Given the description of an element on the screen output the (x, y) to click on. 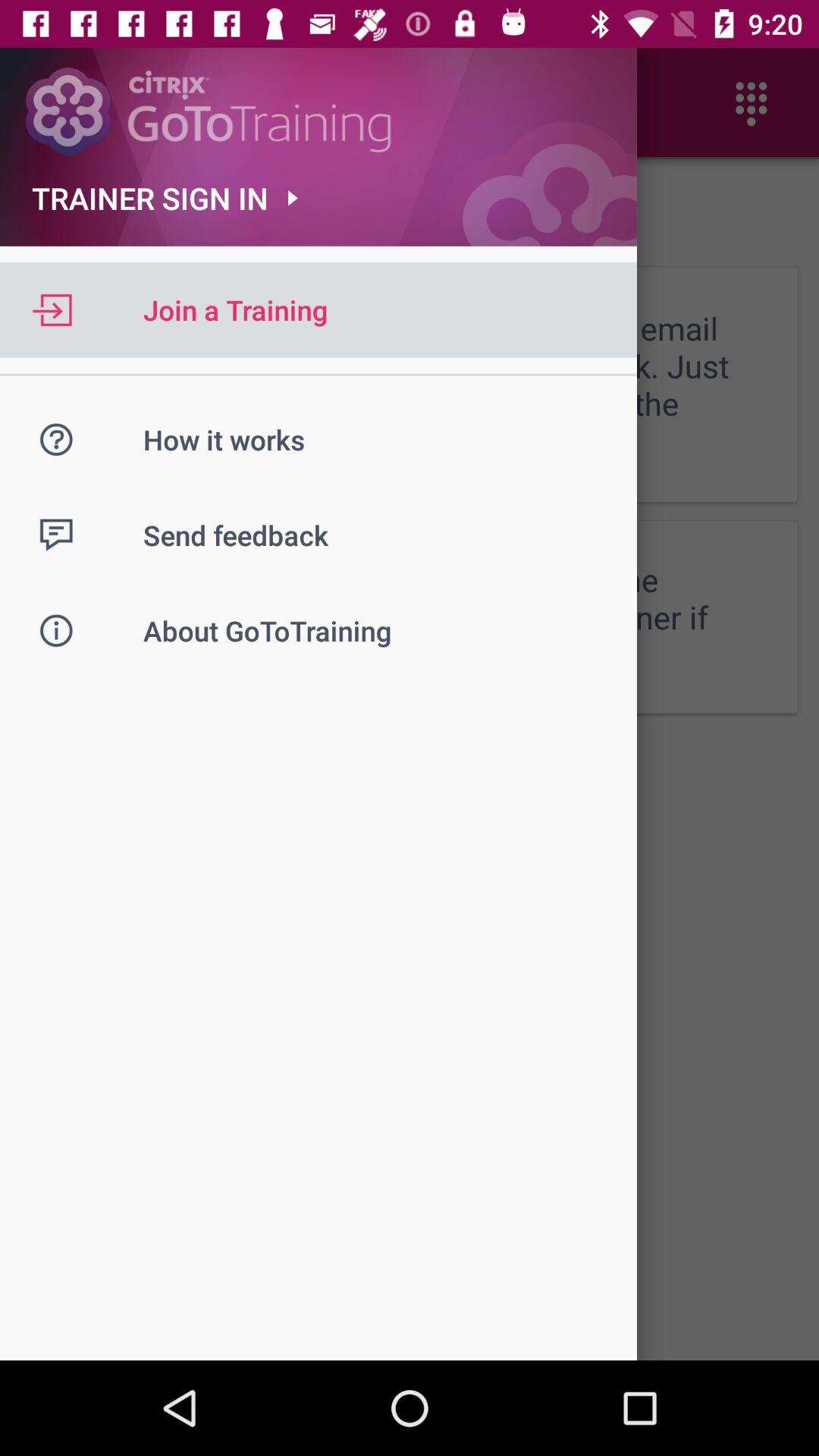
select the menu option which is on the top right corner of the screen (751, 102)
